Given the description of an element on the screen output the (x, y) to click on. 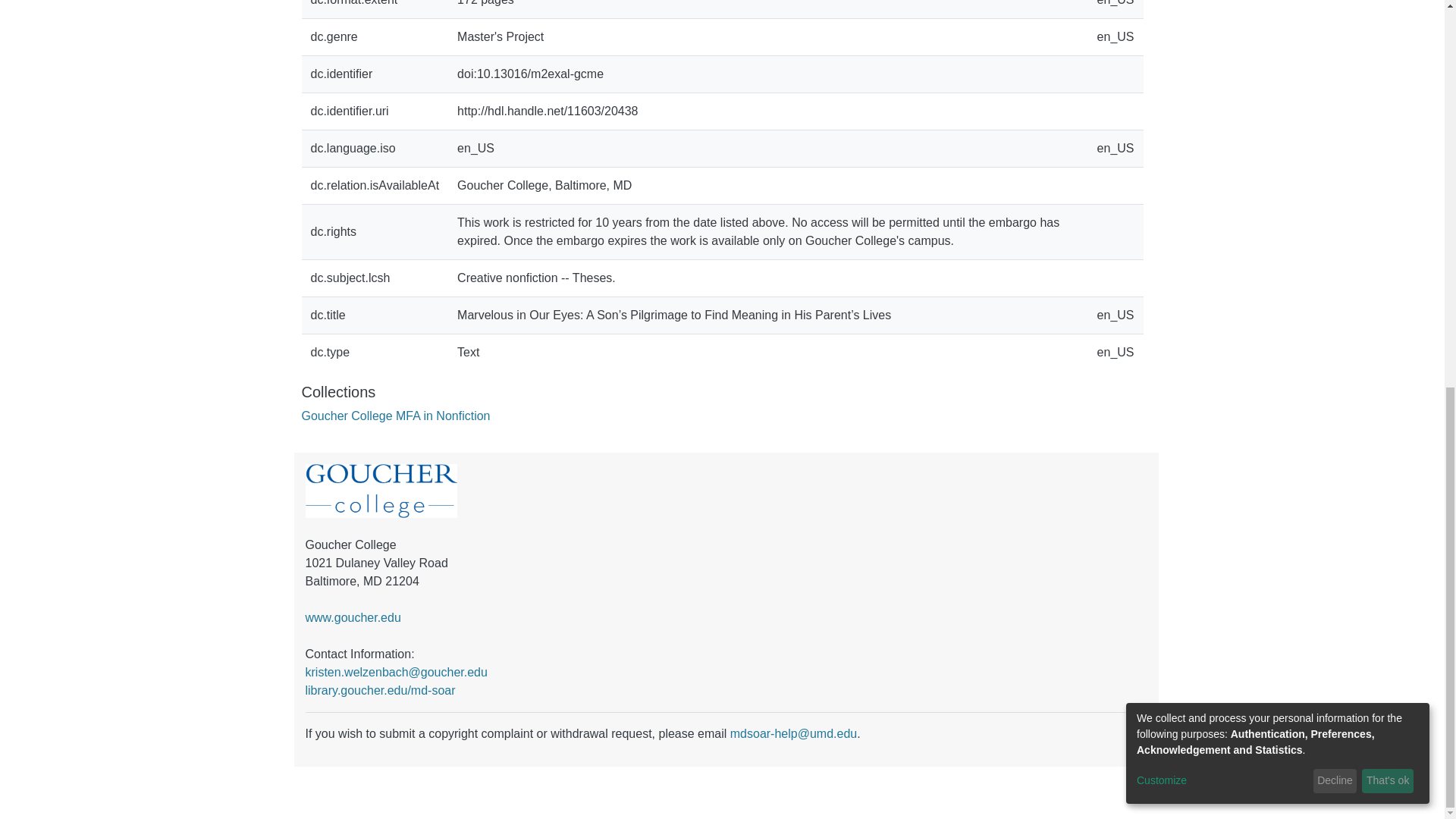
Customize (1222, 46)
That's ok (1387, 46)
www.goucher.edu (352, 617)
Goucher College MFA in Nonfiction (395, 415)
Decline (1334, 46)
